Given the description of an element on the screen output the (x, y) to click on. 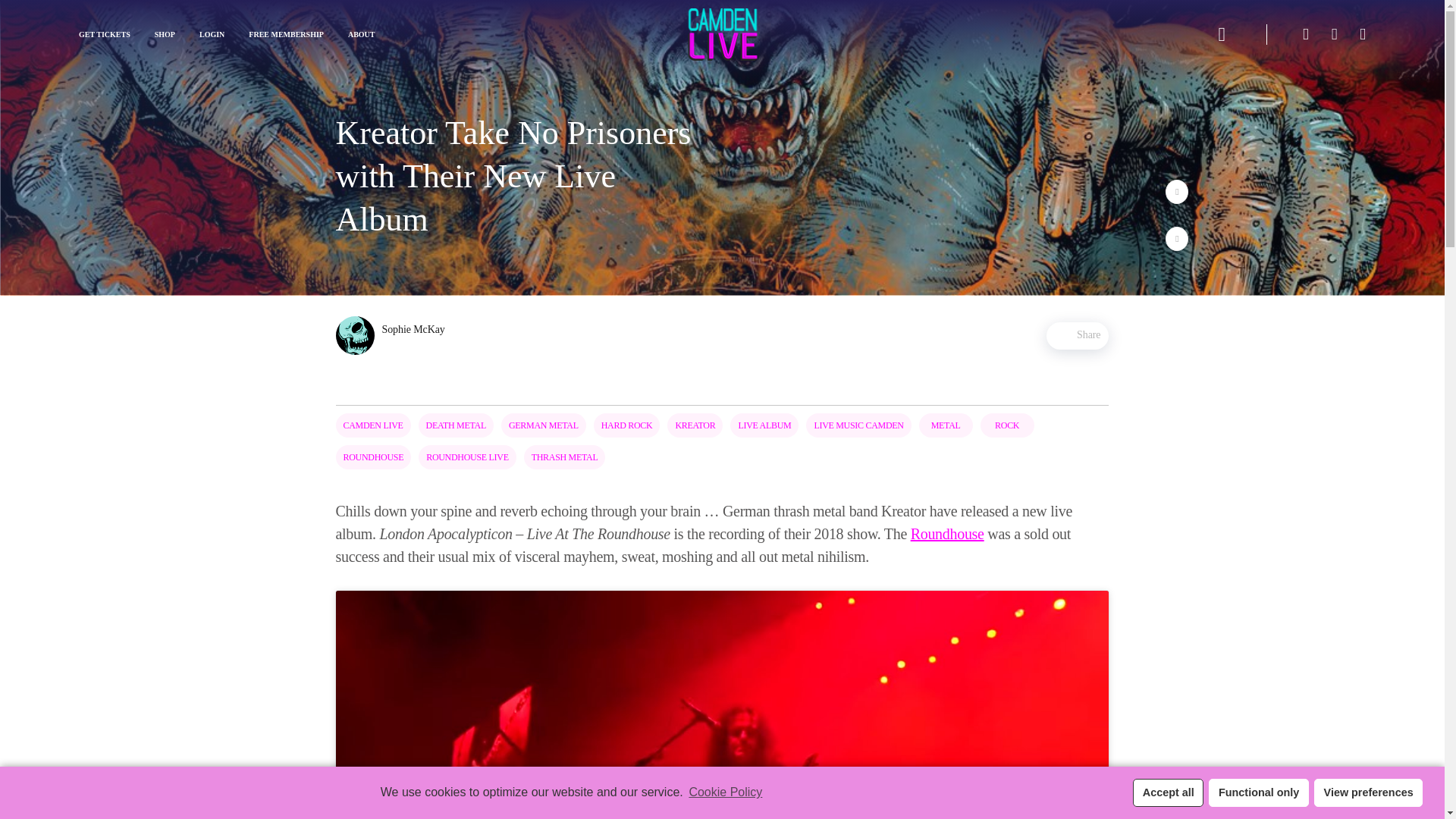
Sophie McKay (394, 335)
Functional only (1257, 792)
CAMDEN LIVE (372, 424)
METAL (945, 424)
SHOP (164, 34)
ABOUT (361, 34)
LIVE MUSIC CAMDEN (857, 424)
GERMAN METAL (543, 424)
Tweet (1177, 191)
LOGIN (211, 34)
Cookie Policy (723, 792)
LIVE ALBUM (764, 424)
Accept all (1168, 792)
GET TICKETS (104, 34)
Share on Facebook (1177, 238)
